Given the description of an element on the screen output the (x, y) to click on. 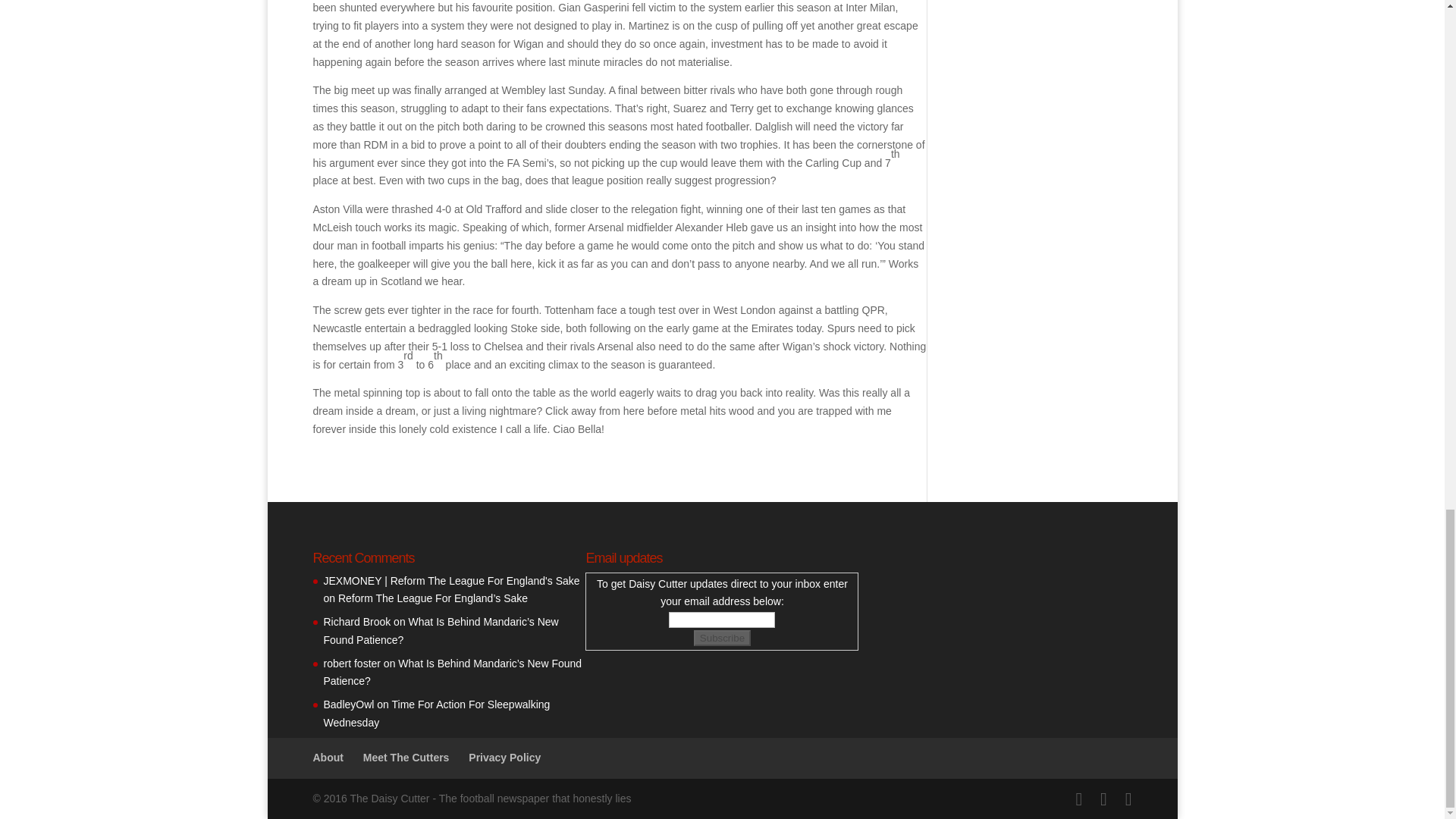
Subscribe (722, 637)
